Given the description of an element on the screen output the (x, y) to click on. 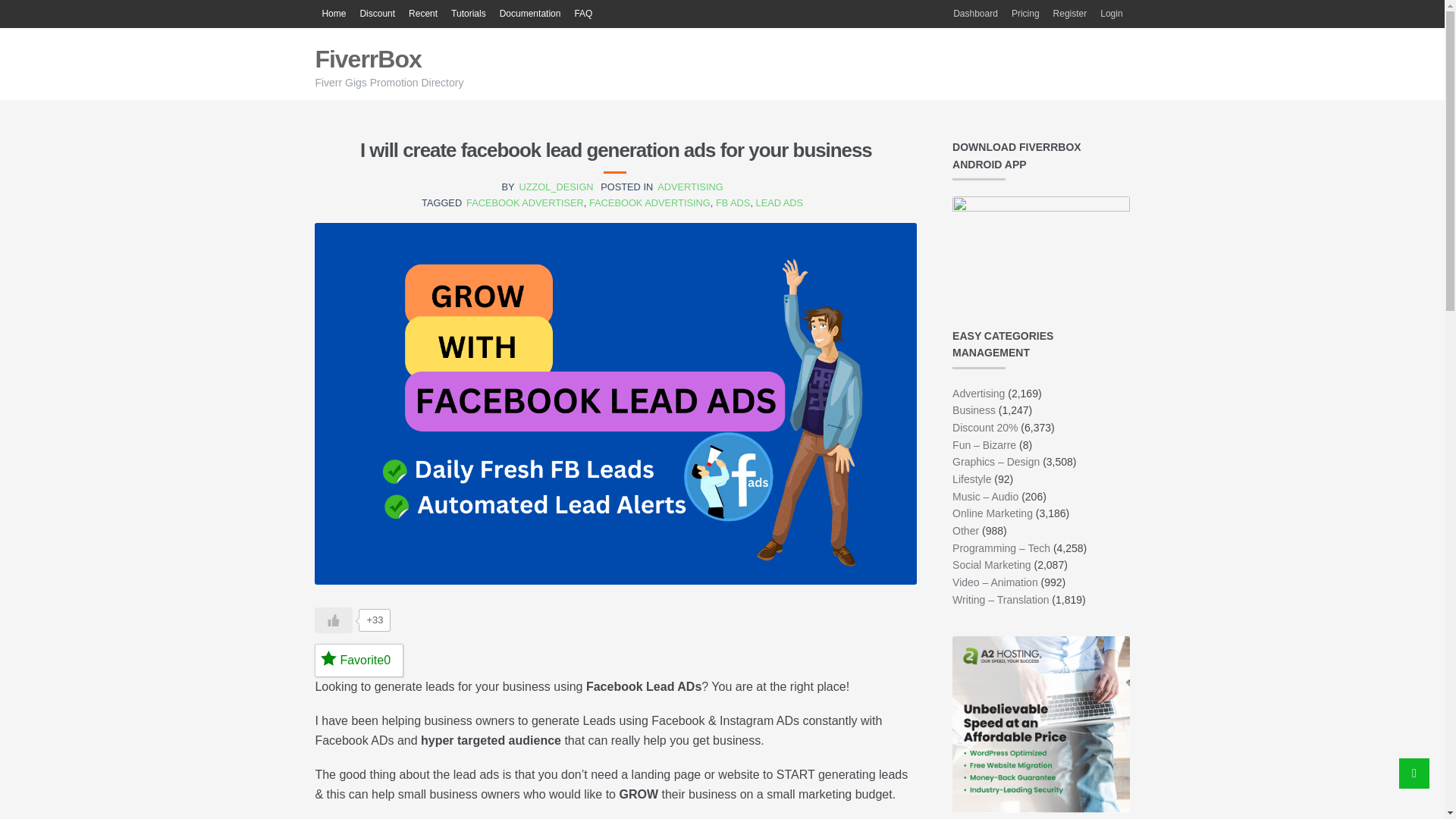
Tutorials (468, 13)
Recent (422, 13)
FiverrBox (367, 58)
Unbelievable Speed 2023 (1040, 725)
ADVERTISING (690, 186)
Directory (333, 13)
Documentation (530, 13)
FAQ (582, 13)
Dashboard (975, 13)
Discount (376, 13)
FB ADS (733, 202)
Pricing (1025, 13)
Register (1070, 13)
LEAD ADS (779, 202)
Login (1111, 13)
